Given the description of an element on the screen output the (x, y) to click on. 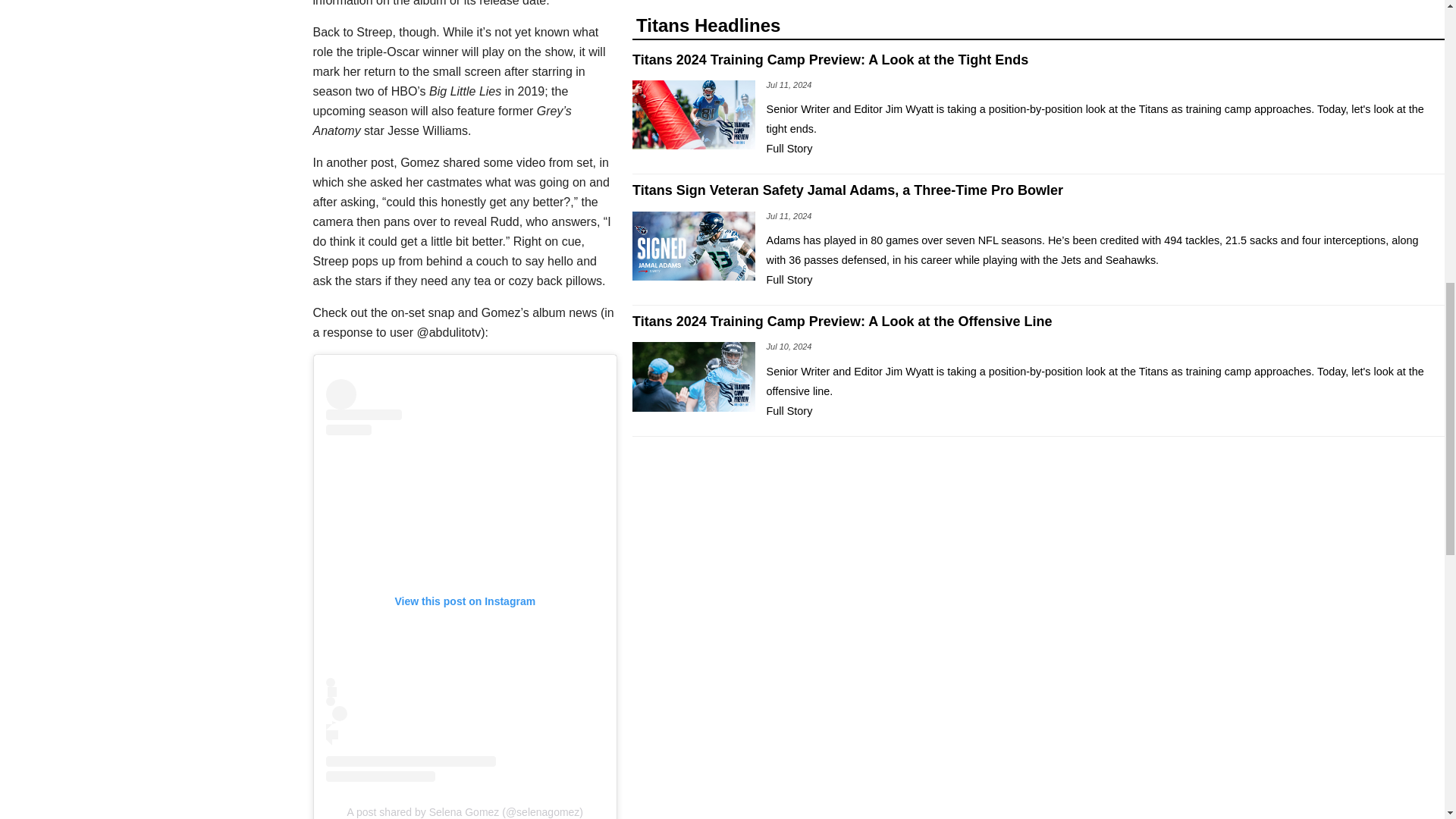
View this post on Instagram (465, 580)
